Given the description of an element on the screen output the (x, y) to click on. 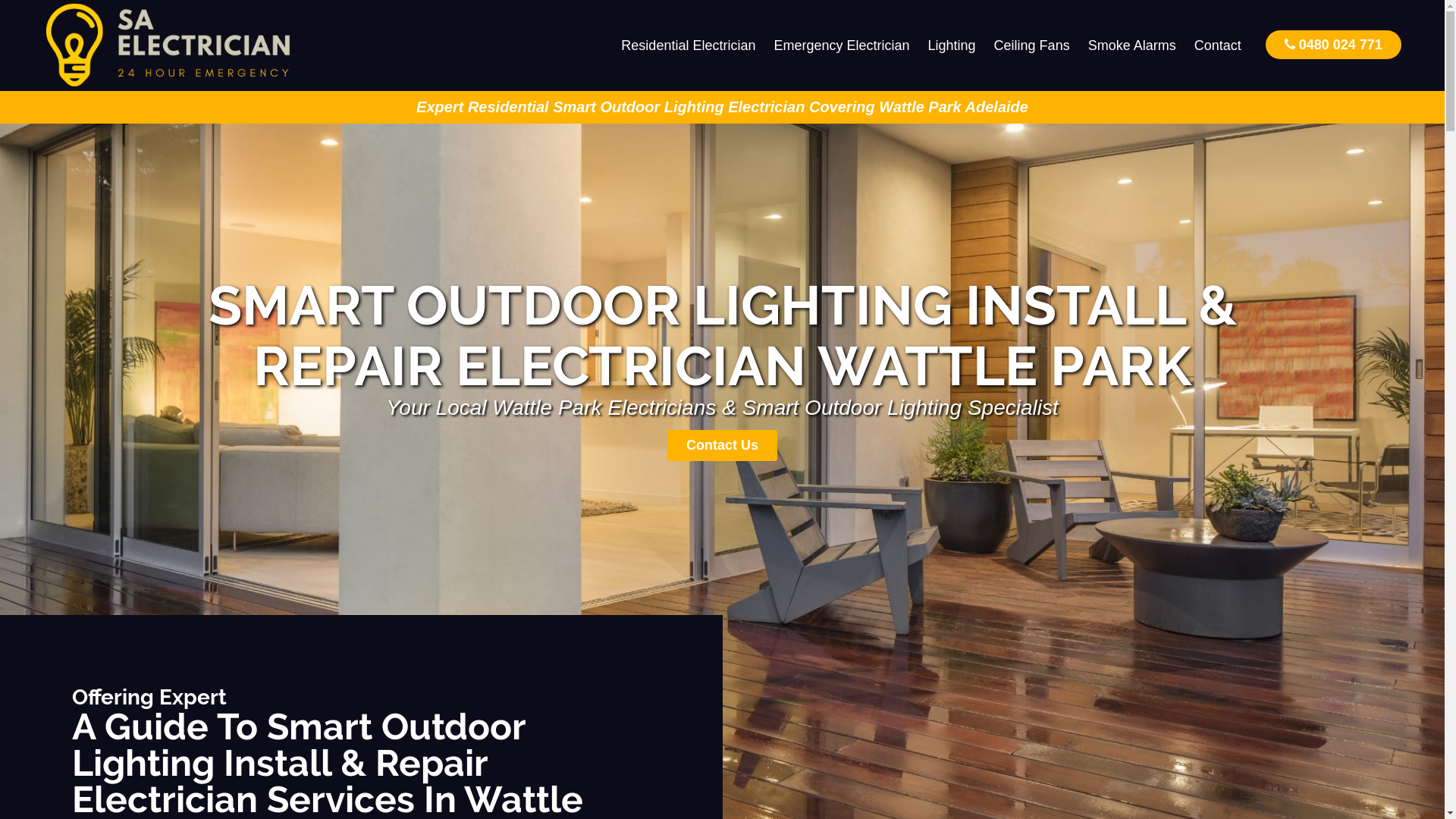
Emergency Electrician Element type: text (841, 45)
Smoke Alarms Element type: text (1132, 45)
Lighting Element type: text (952, 45)
Contact Us Element type: text (722, 445)
Residential Electrician Element type: text (687, 45)
0480 024 771 Element type: text (1333, 44)
Contact Element type: text (1217, 45)
Ceiling Fans Element type: text (1032, 45)
